Given the description of an element on the screen output the (x, y) to click on. 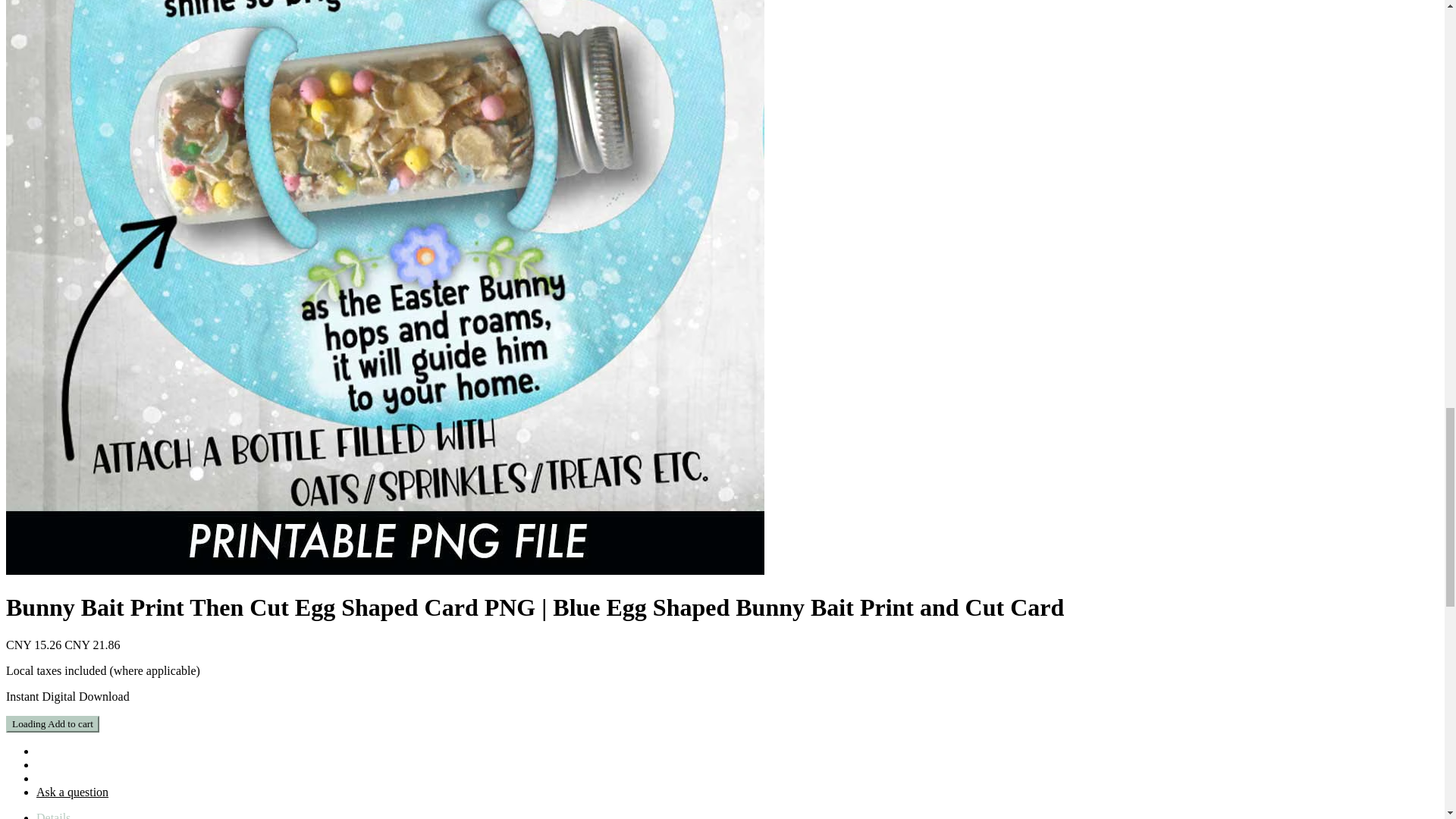
Ask a question (71, 791)
Details (52, 815)
Loading Add to cart (52, 723)
